Given the description of an element on the screen output the (x, y) to click on. 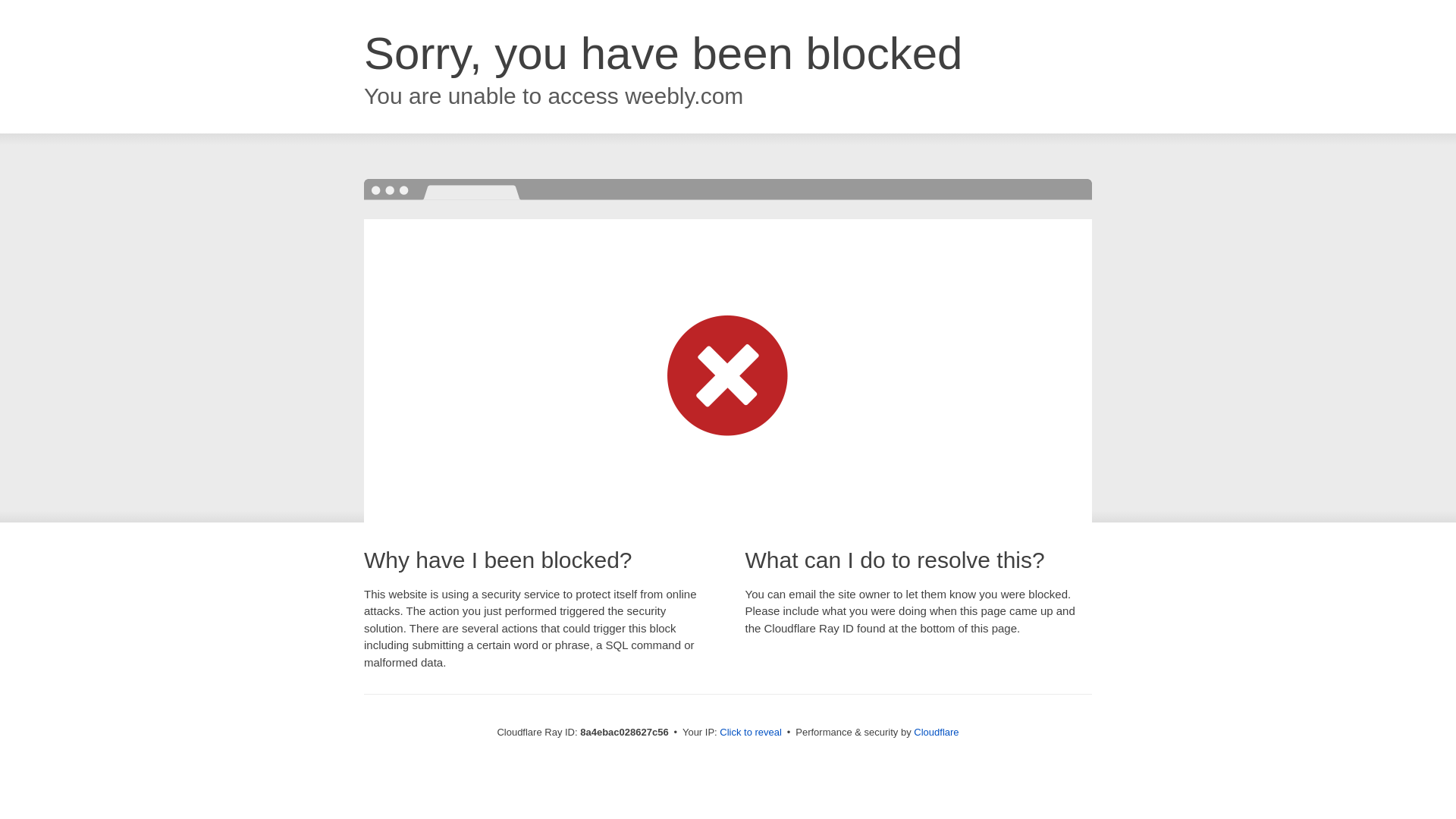
Click to reveal (750, 732)
Cloudflare (936, 731)
